Given the description of an element on the screen output the (x, y) to click on. 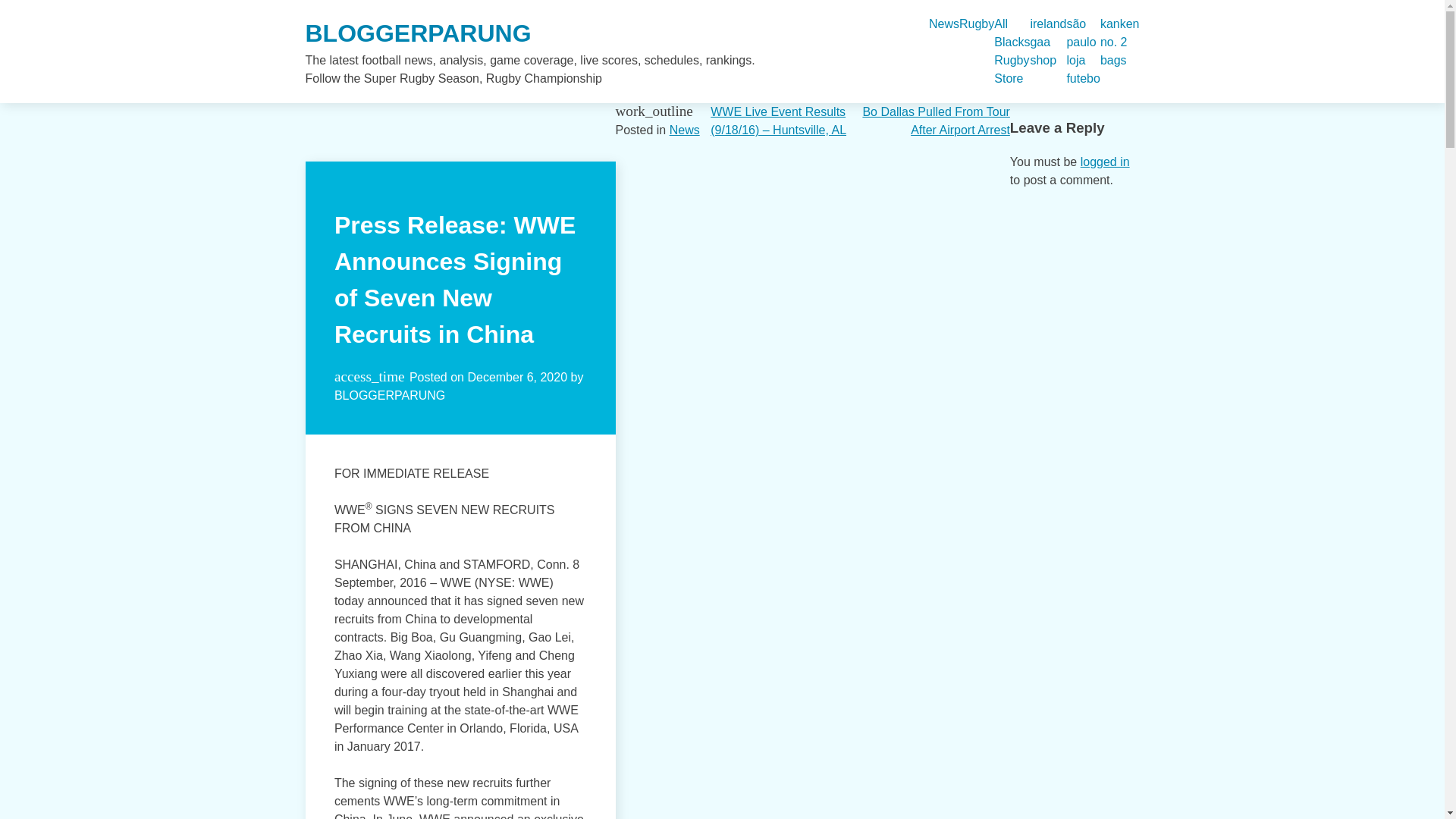
BLOGGERPARUNG (417, 32)
News (943, 24)
BLOGGERPARUNG (389, 395)
Rugby (976, 24)
logged in (1104, 161)
December 6, 2020 (517, 377)
News (684, 129)
Bo Dallas Pulled From Tour After Airport Arrest (935, 120)
